Given the description of an element on the screen output the (x, y) to click on. 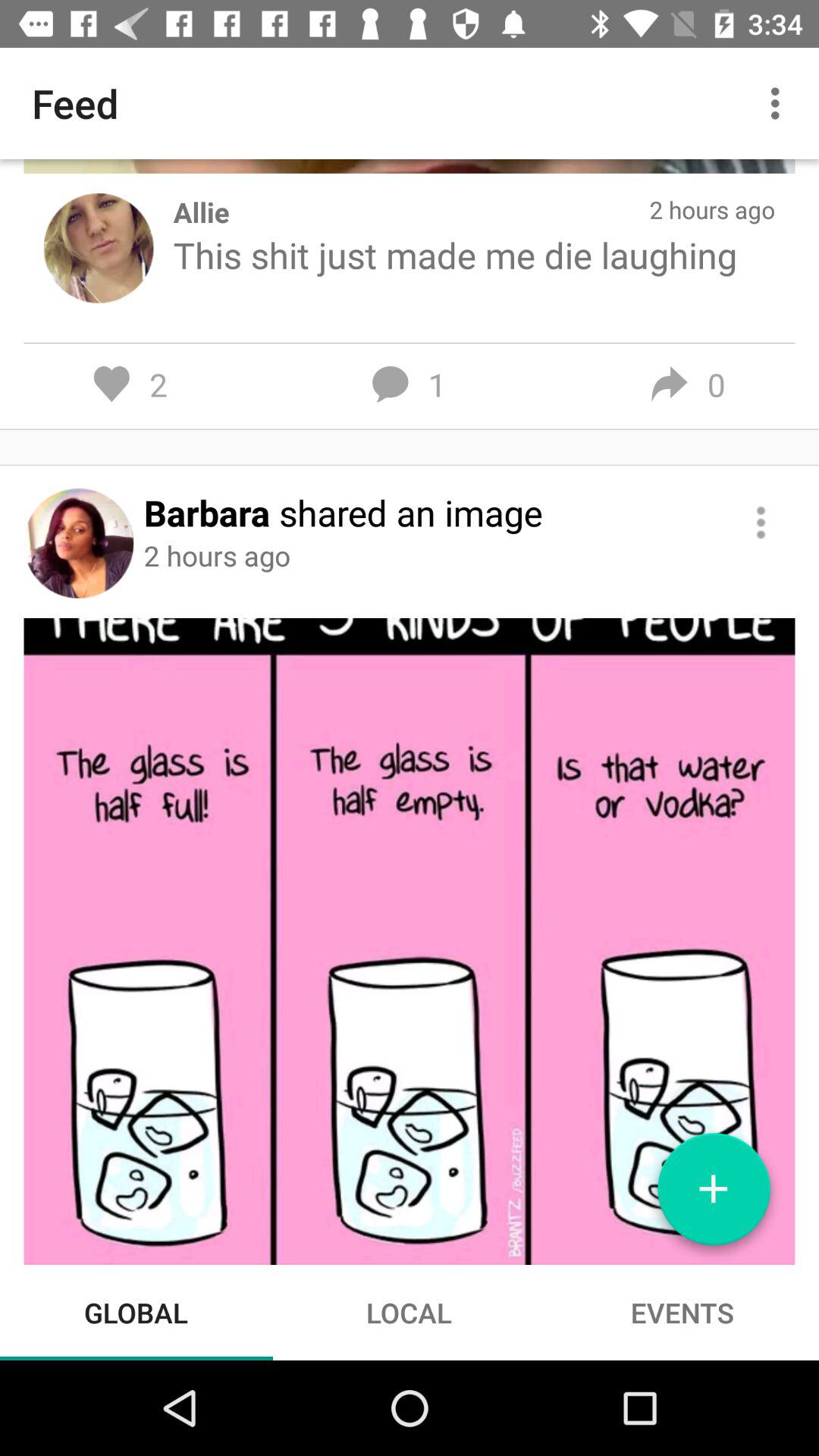
turn off the icon next to the feed (779, 103)
